Given the description of an element on the screen output the (x, y) to click on. 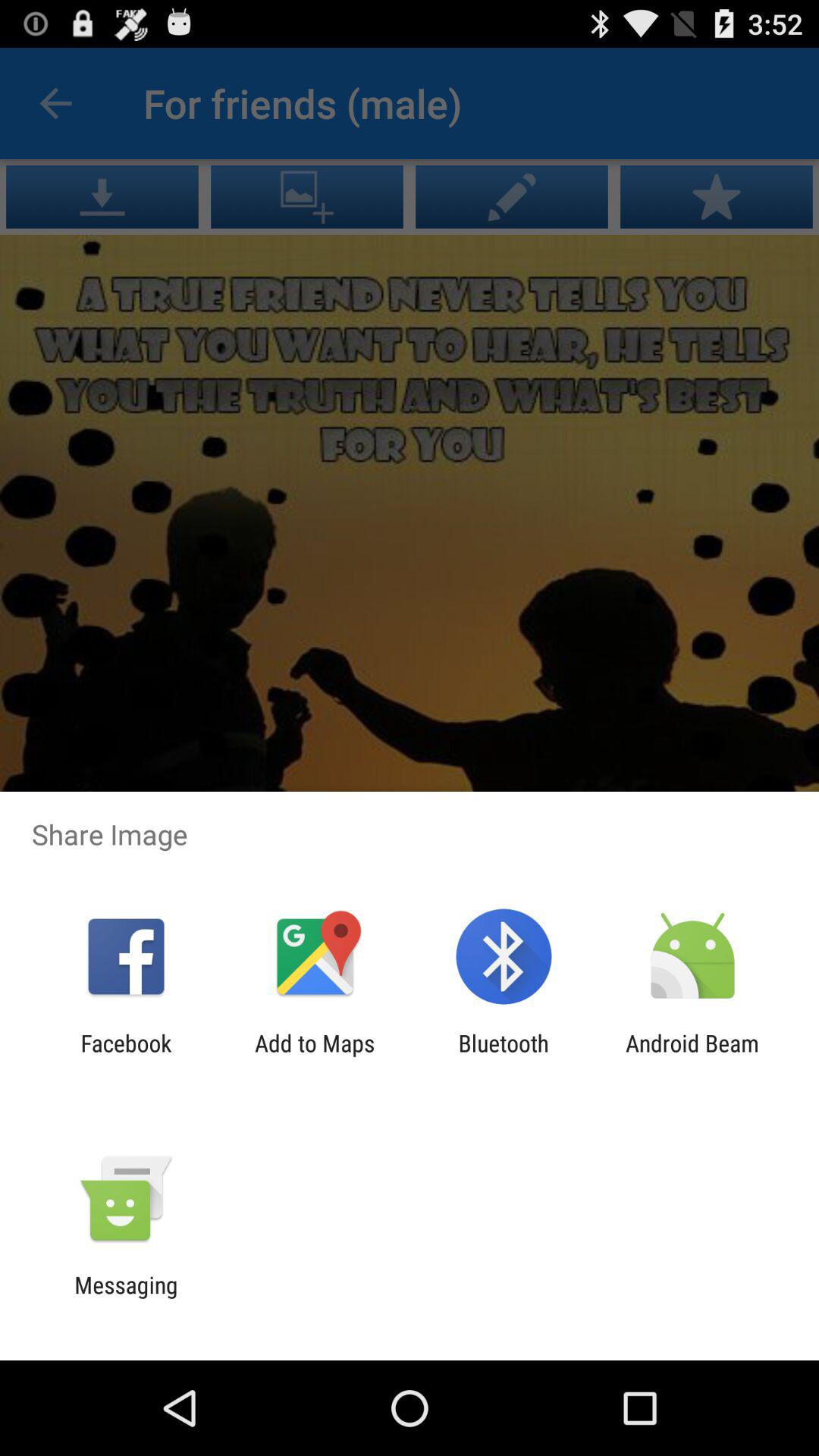
click the item next to add to maps icon (125, 1056)
